Given the description of an element on the screen output the (x, y) to click on. 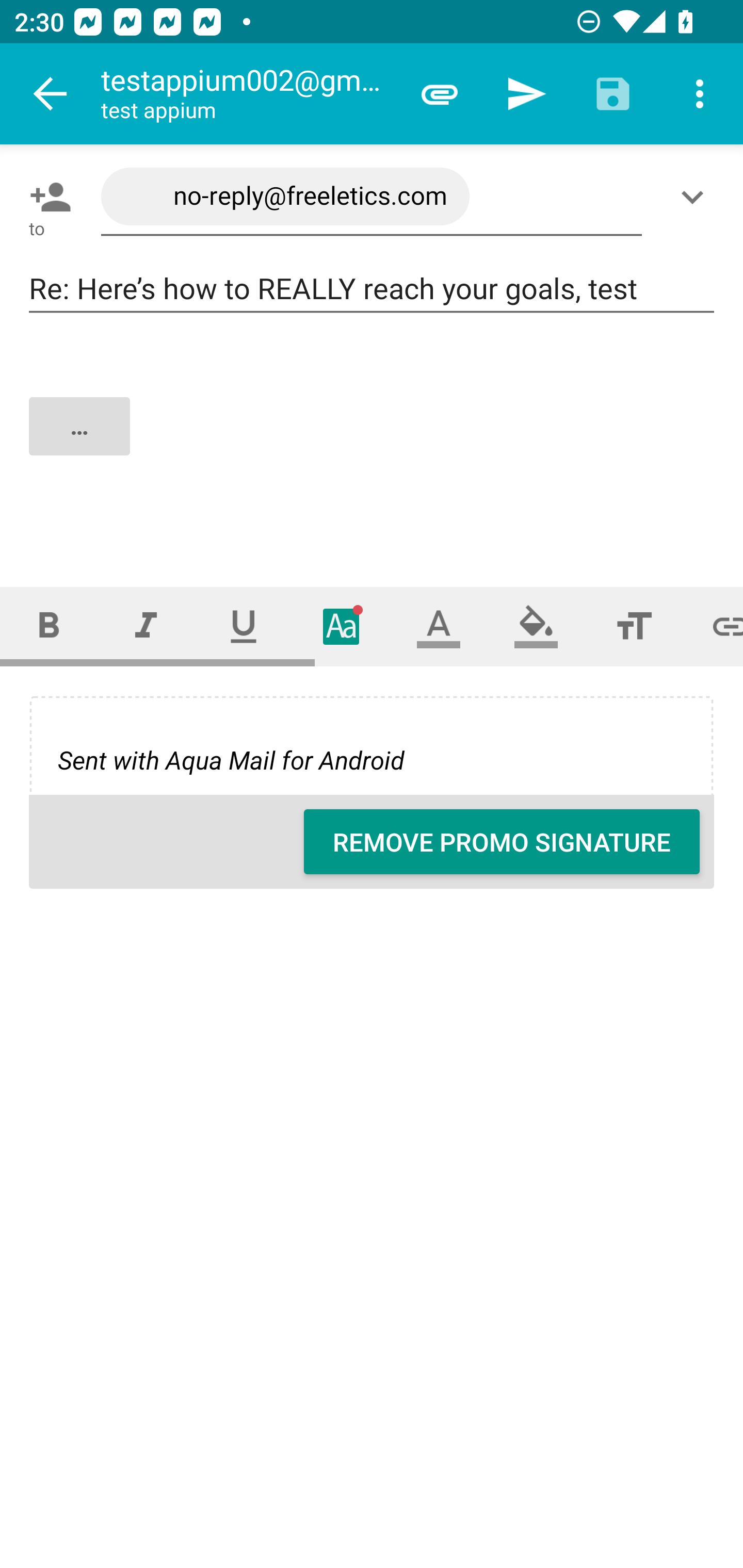
Navigate up (50, 93)
testappium002@gmail.com test appium (248, 93)
Attach (439, 93)
Send (525, 93)
Save (612, 93)
More options (699, 93)
no-reply@freeletics.com,  (371, 197)
Pick contact: To (46, 196)
Show/Add CC/BCC (696, 196)
Re: Here’s how to REALLY reach your goals, test (371, 288)

…
 (372, 442)
Bold (48, 626)
Italic (145, 626)
Underline (243, 626)
Typeface (font) (341, 626)
Text color (438, 626)
Fill color (536, 626)
Font size (633, 626)
REMOVE PROMO SIGNATURE (501, 841)
